Given the description of an element on the screen output the (x, y) to click on. 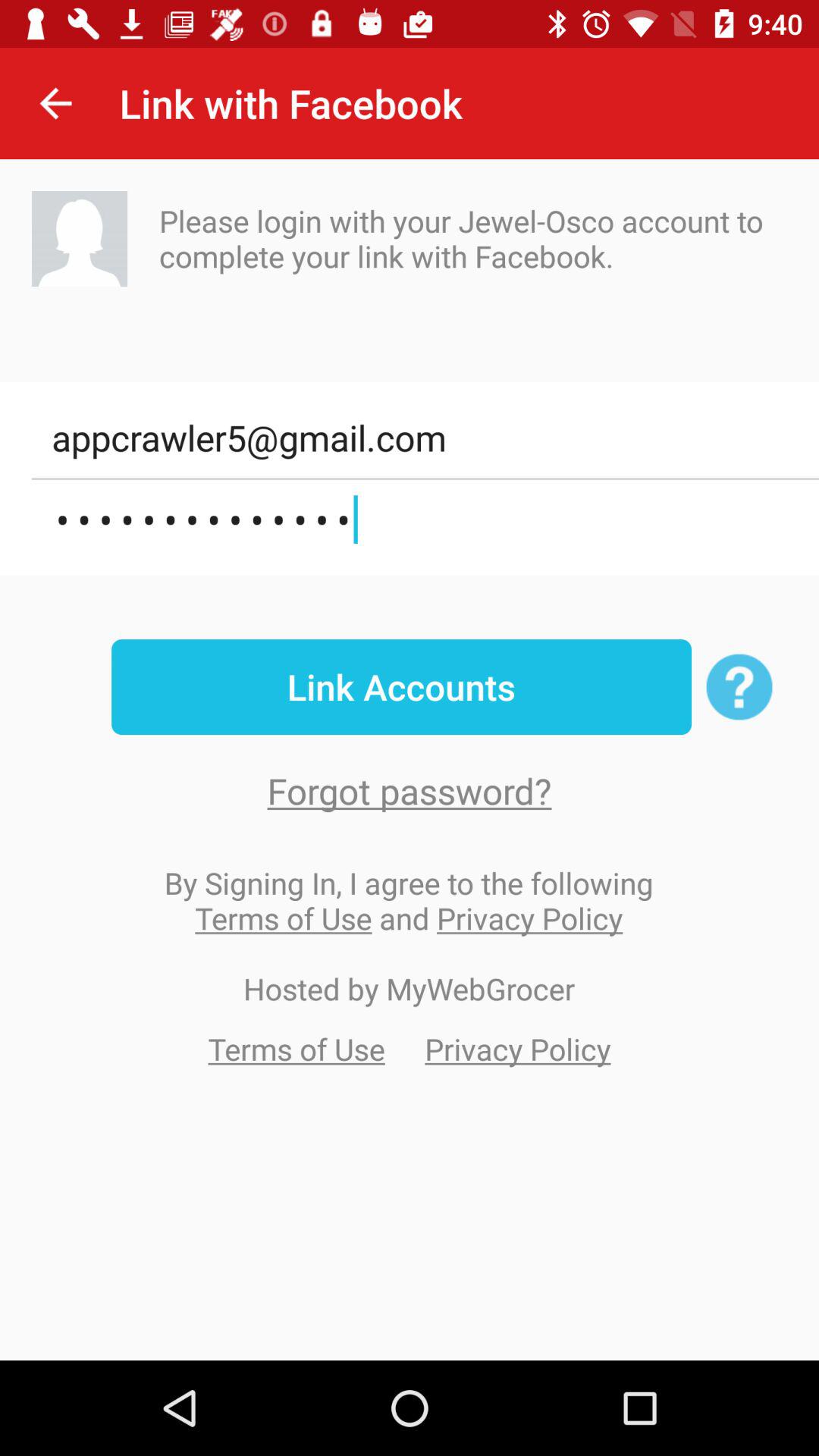
jump until the forgot password? item (409, 790)
